Given the description of an element on the screen output the (x, y) to click on. 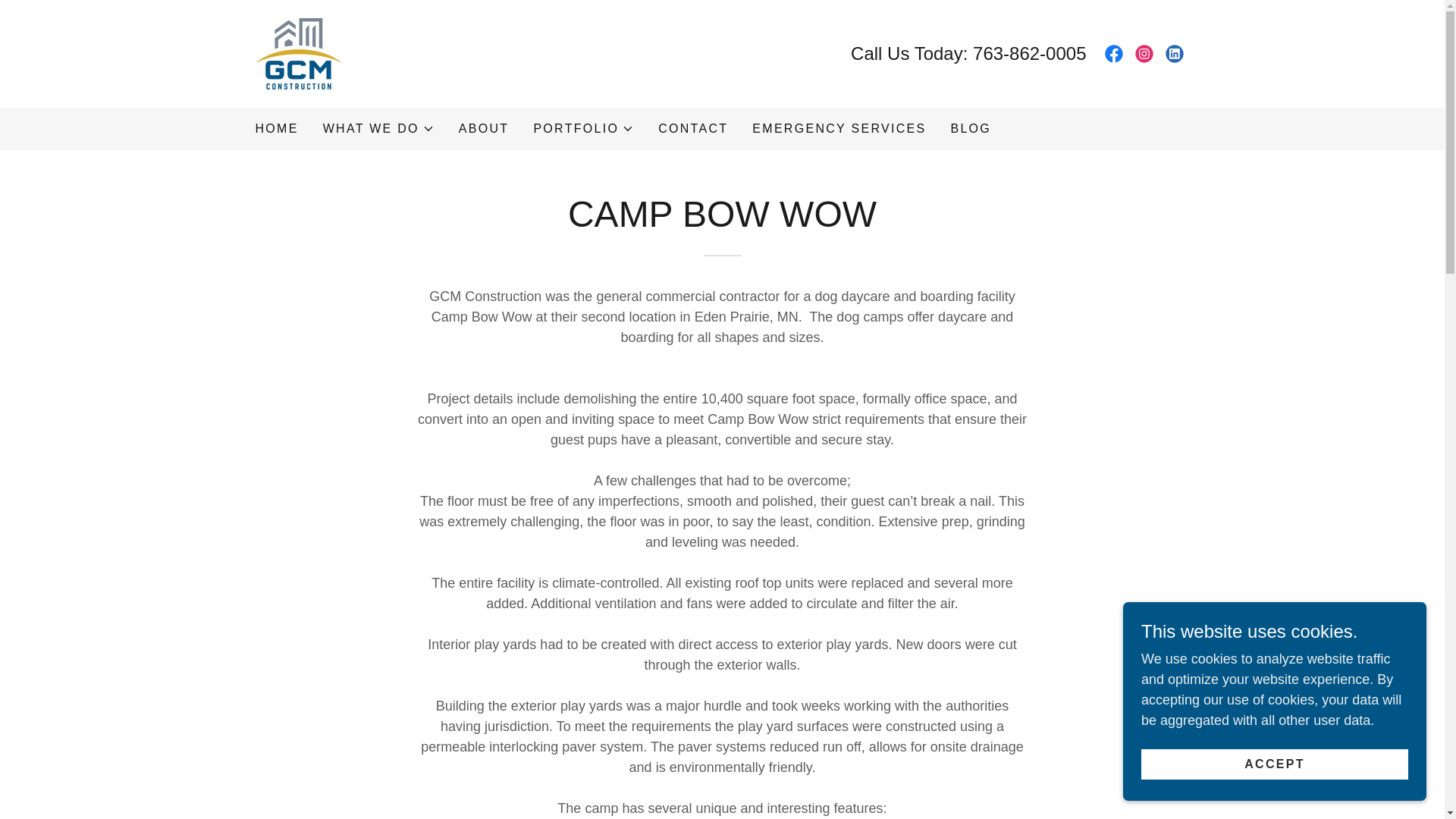
HOME (276, 128)
EMERGENCY SERVICES (839, 128)
CONTACT (692, 128)
PORTFOLIO (582, 128)
GCM Construction (297, 52)
BLOG (969, 128)
ABOUT (483, 128)
763-862-0005 (1029, 53)
WHAT WE DO (378, 128)
